Given the description of an element on the screen output the (x, y) to click on. 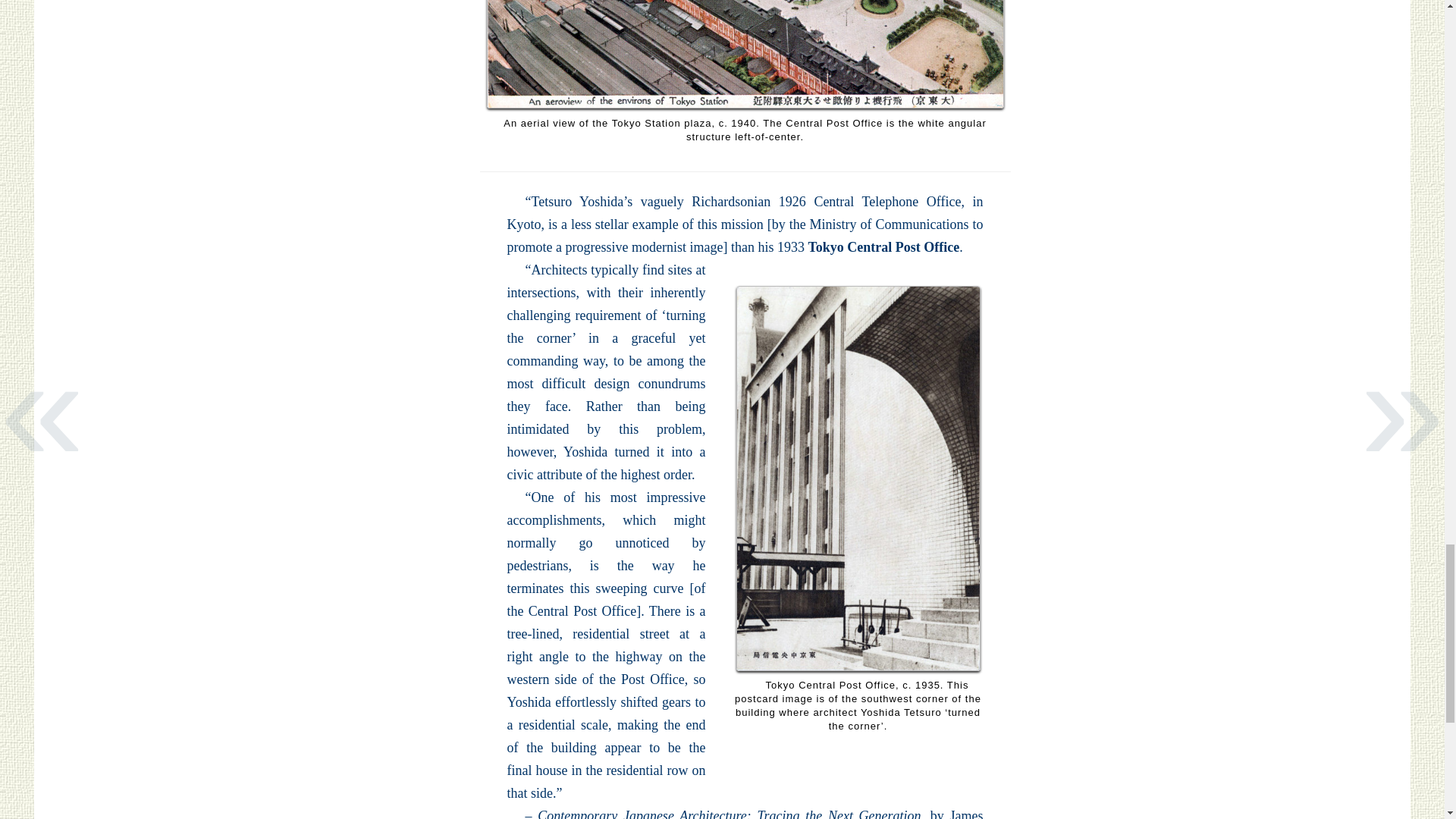
Tokyo Central Post Office, c. 1935. (857, 477)
